Given the description of an element on the screen output the (x, y) to click on. 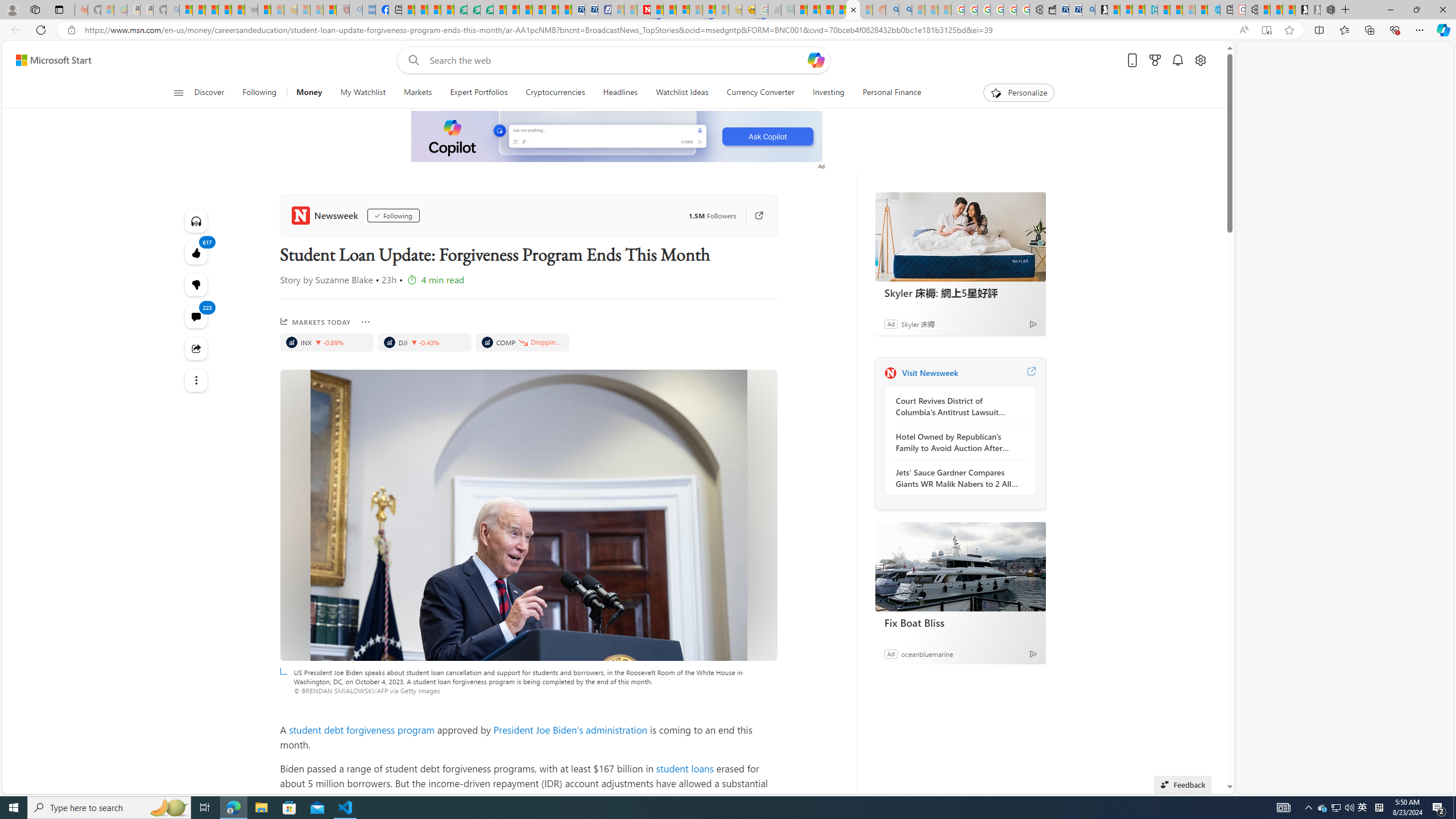
Currency Converter (760, 92)
Share this story (196, 348)
COMP, NASDAQ. Price is 17,619.35. Decreased by -1.67% (522, 342)
World - MSN (434, 9)
Microsoft Word - consumer-privacy address update 2.2021 (486, 9)
oceanbluemarine (927, 653)
